Given the description of an element on the screen output the (x, y) to click on. 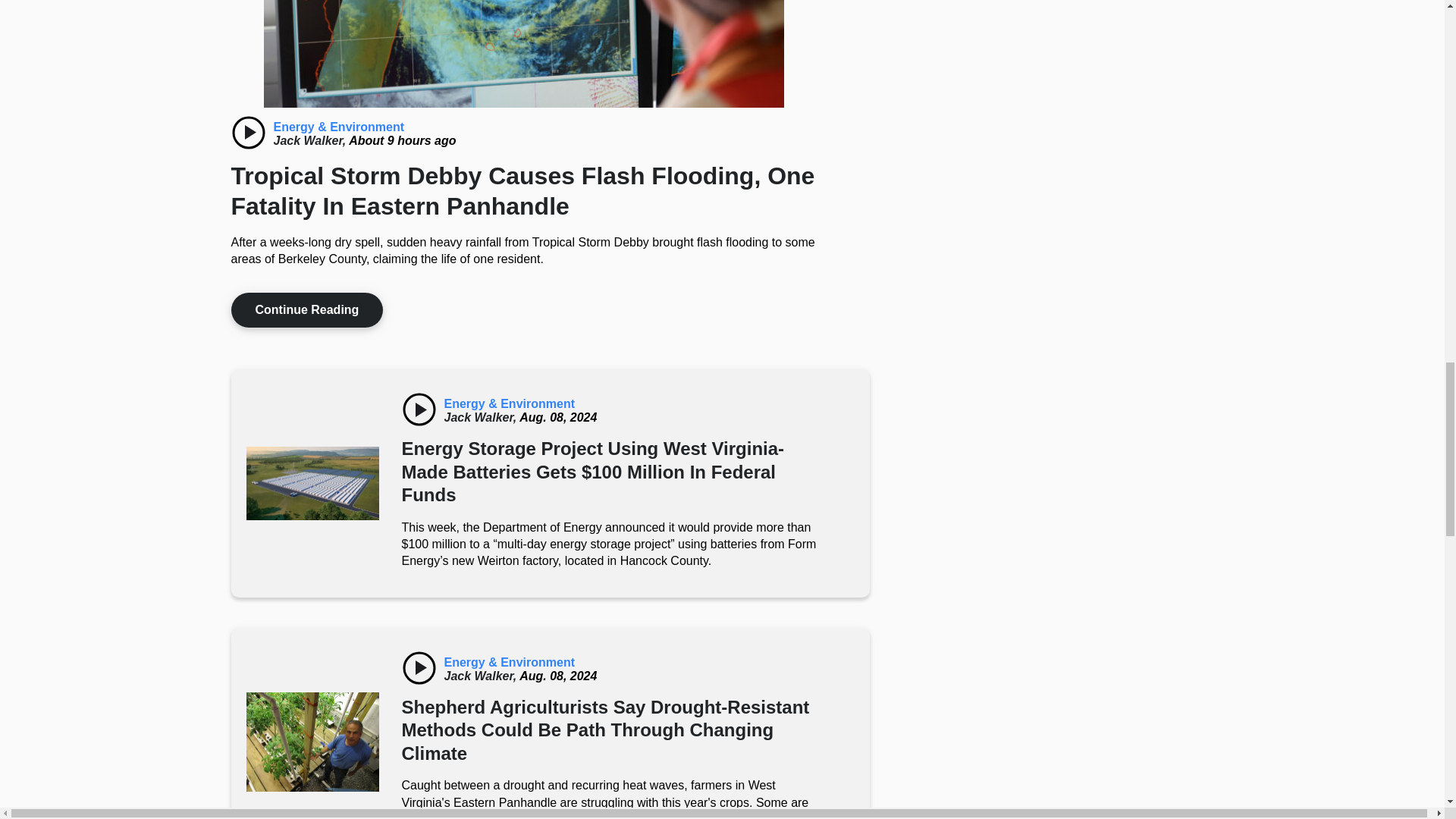
Jack Walker (311, 140)
Jack Walker (481, 675)
Jack Walker (481, 417)
